Given the description of an element on the screen output the (x, y) to click on. 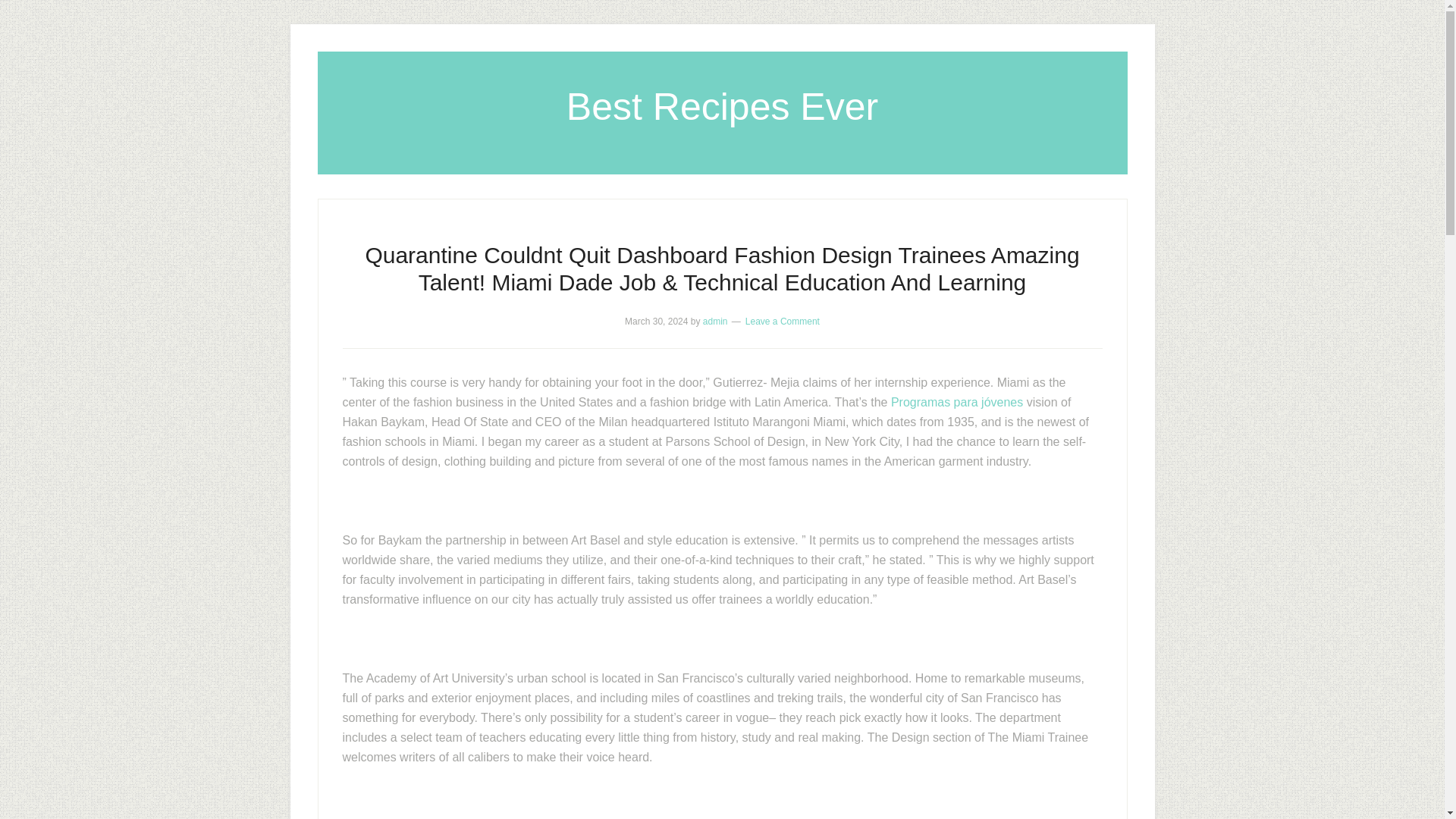
Leave a Comment (782, 321)
Best Recipes Ever (721, 106)
admin (715, 321)
